Given the description of an element on the screen output the (x, y) to click on. 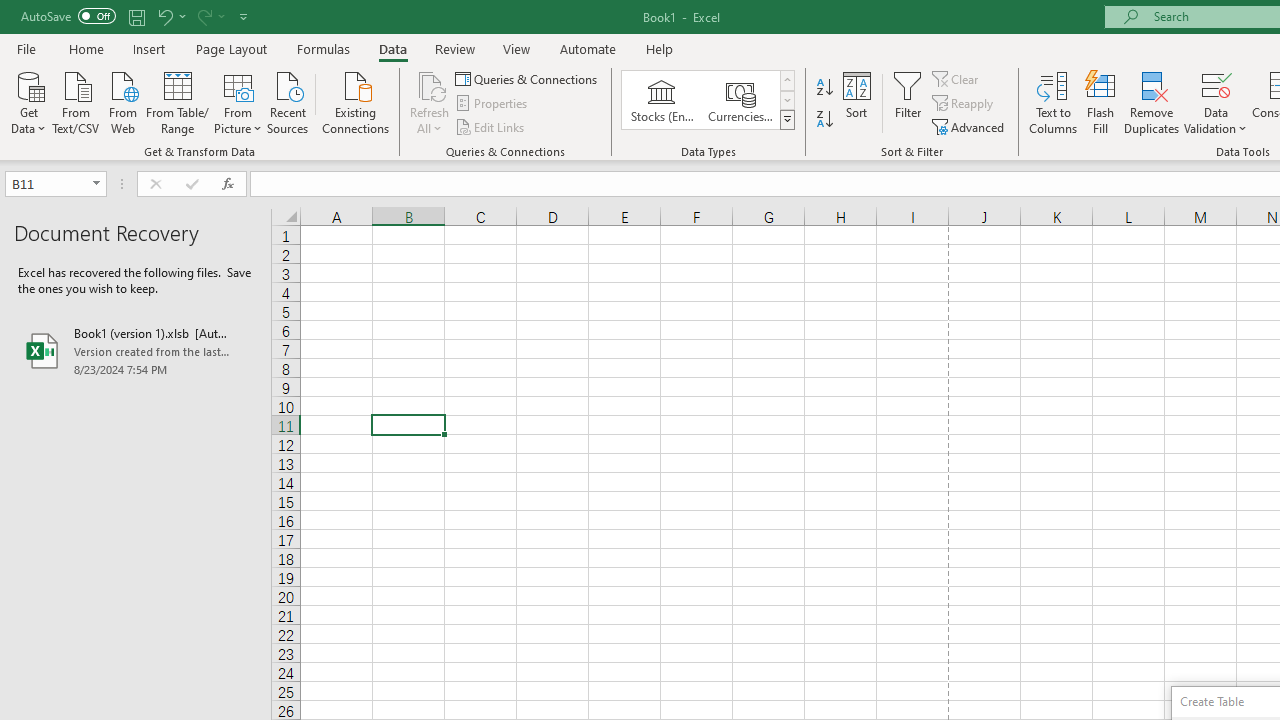
Existing Connections (355, 101)
Data (392, 48)
Class: NetUIImage (787, 119)
Flash Fill (1101, 102)
Refresh All (429, 84)
Filter (908, 102)
AutomationID: ConvertToLinkedEntity (708, 99)
Undo (164, 15)
Customize Quick Access Toolbar (244, 15)
Page Layout (230, 48)
Get Data (28, 101)
Formulas (323, 48)
Queries & Connections (527, 78)
File Tab (26, 48)
